Given the description of an element on the screen output the (x, y) to click on. 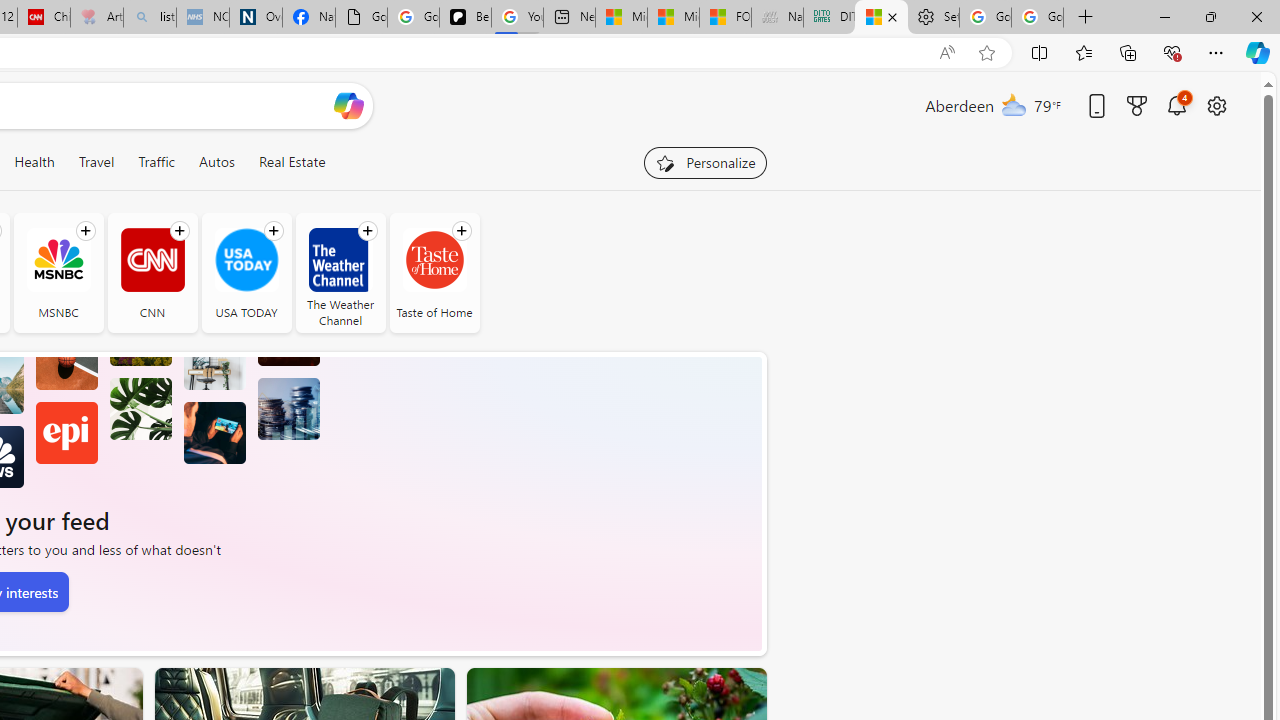
Taste of Home (434, 260)
Google Analytics Opt-out Browser Add-on Download Page (360, 17)
Health (34, 162)
FOX News - MSN (725, 17)
